Given the description of an element on the screen output the (x, y) to click on. 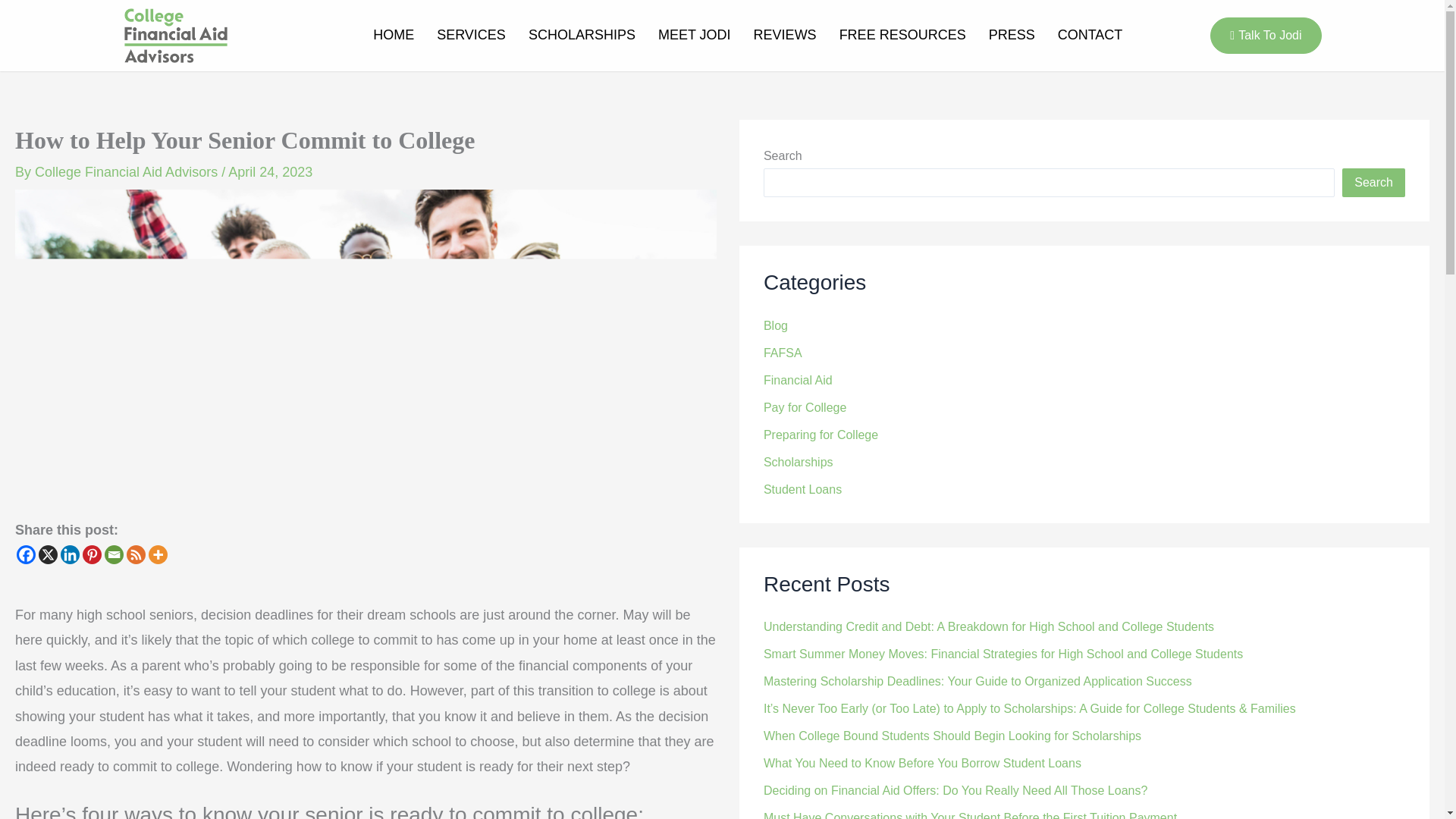
PRESS (1011, 35)
View all posts by College Financial Aid Advisors (127, 171)
College Financial Aid Advisors (127, 171)
HOME (393, 35)
SCHOLARSHIPS (581, 35)
CONTACT (1090, 35)
Talk To Jodi (1264, 35)
FREE RESOURCES (902, 35)
MEET JODI (694, 35)
RSS Feed (135, 554)
